Given the description of an element on the screen output the (x, y) to click on. 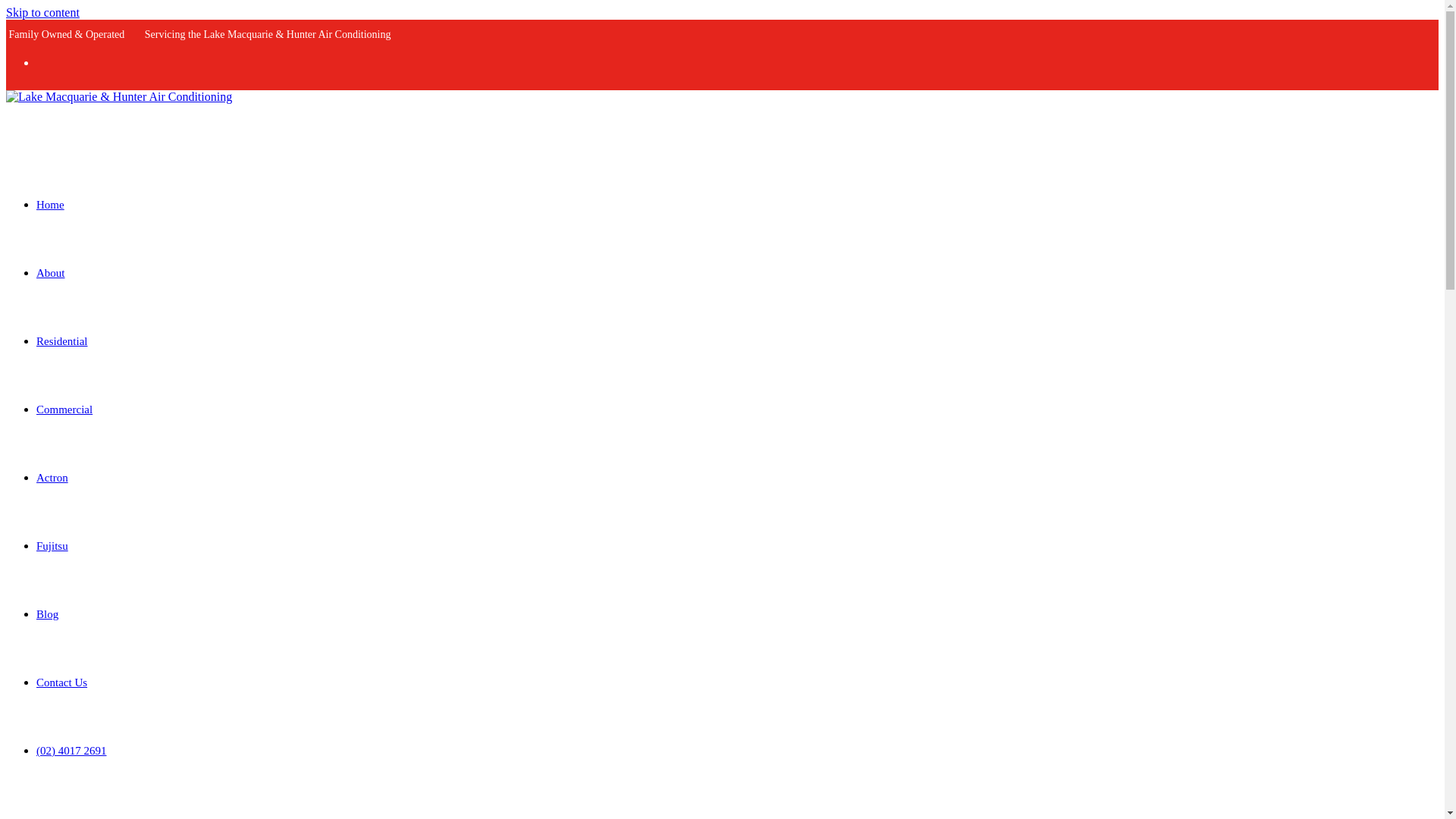
Actron (52, 477)
About (50, 272)
Blog (47, 613)
Fujitsu (52, 545)
Contact Us (61, 682)
Home (50, 204)
Skip to content (42, 11)
Residential (61, 340)
Commercial (64, 409)
